Given the description of an element on the screen output the (x, y) to click on. 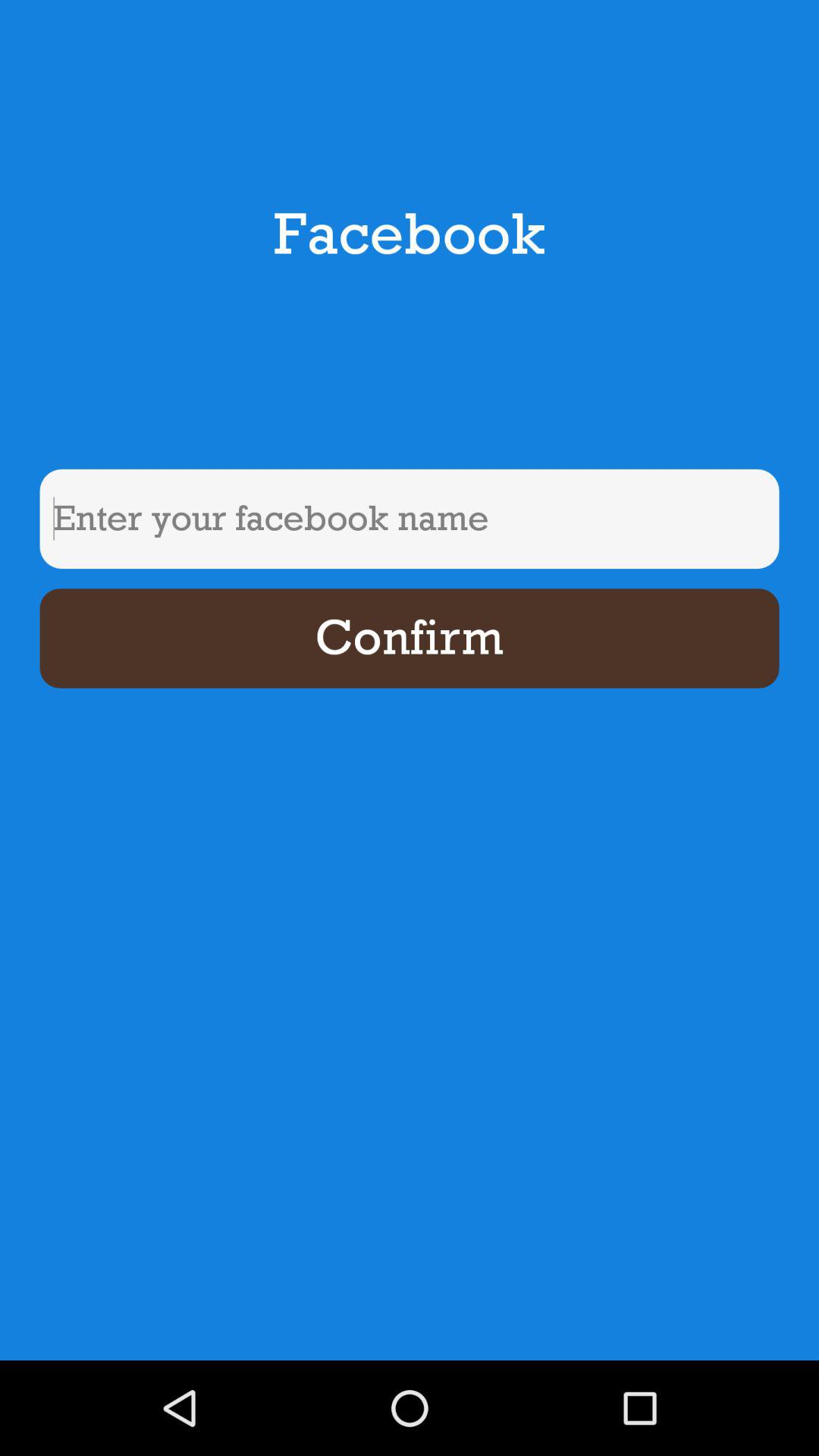
jump until confirm (409, 638)
